Given the description of an element on the screen output the (x, y) to click on. 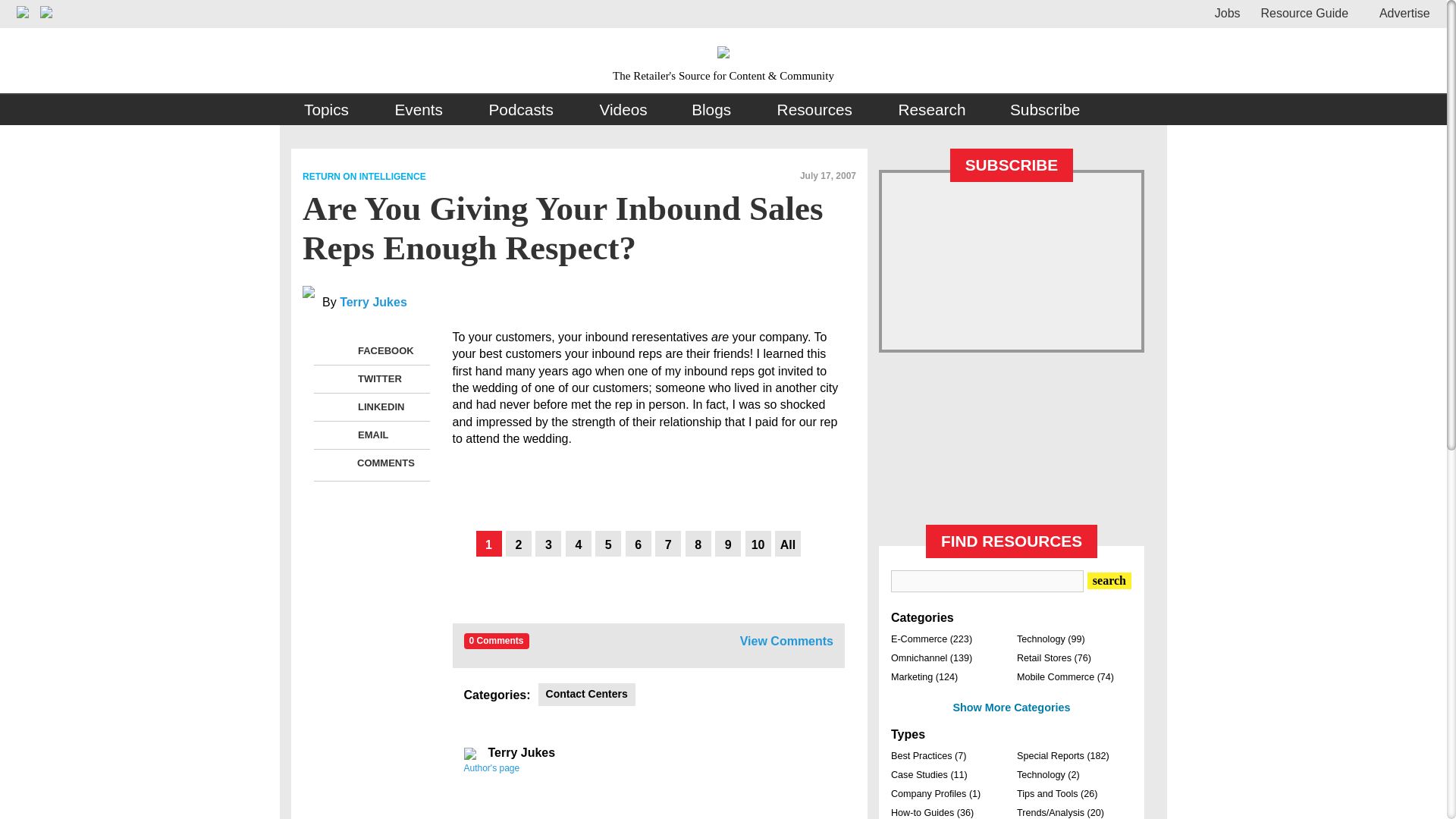
Events (418, 110)
Facebook (339, 351)
LinkedIn (339, 406)
search (1109, 580)
Jobs (1227, 12)
Email Link (339, 435)
Topics (327, 110)
Podcasts (521, 110)
Blogs (711, 110)
Resource Guide (1304, 12)
